Given the description of an element on the screen output the (x, y) to click on. 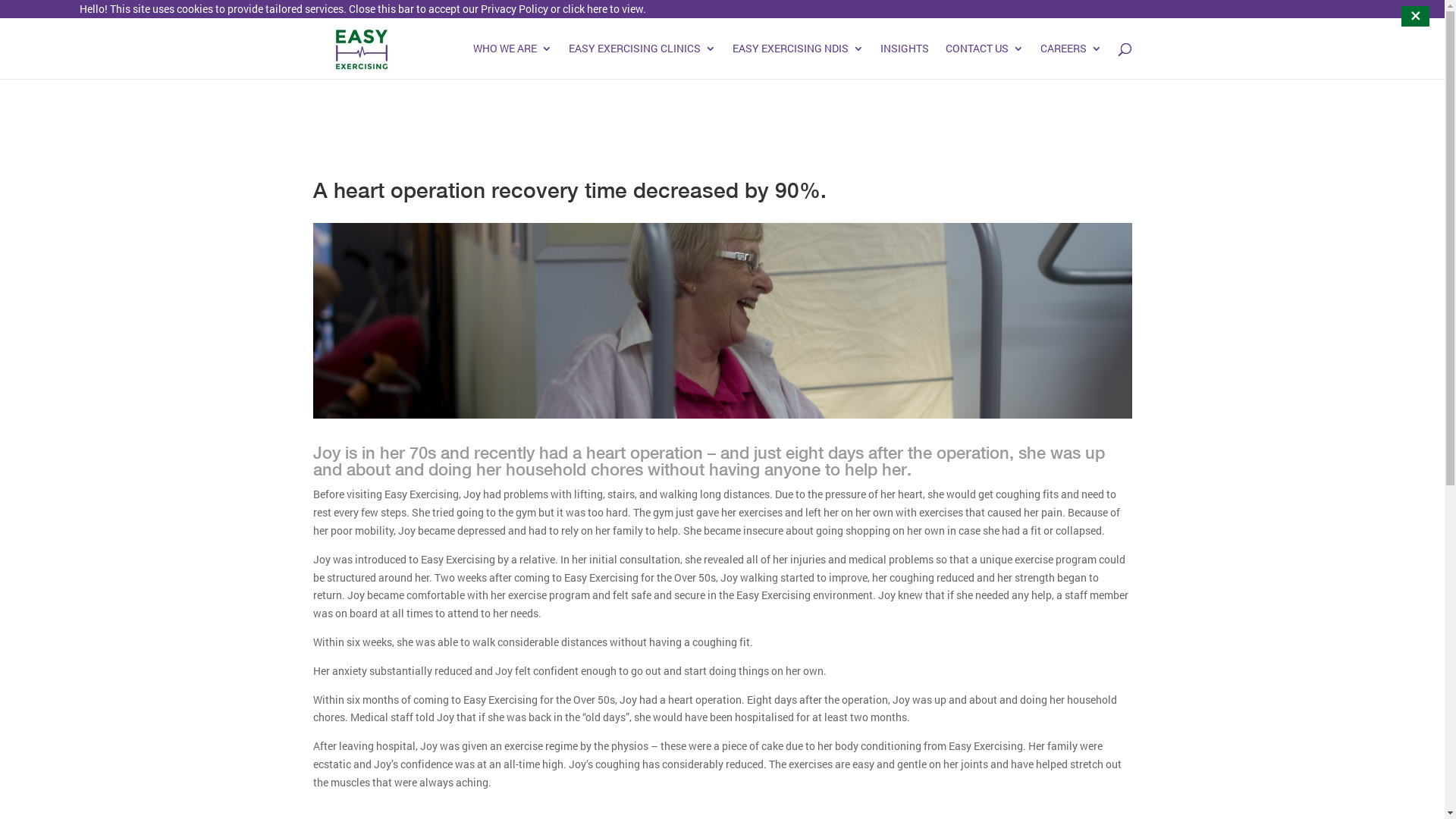
INSIGHTS Element type: text (903, 60)
EASY EXERCISING NDIS Element type: text (797, 60)
CAREERS Element type: text (1070, 60)
EASY EXERCISING CLINICS Element type: text (641, 60)
Privacy Policy Element type: text (514, 8)
click here Element type: text (584, 8)
WHO WE ARE Element type: text (512, 60)
CONTACT US Element type: text (983, 60)
